Given the description of an element on the screen output the (x, y) to click on. 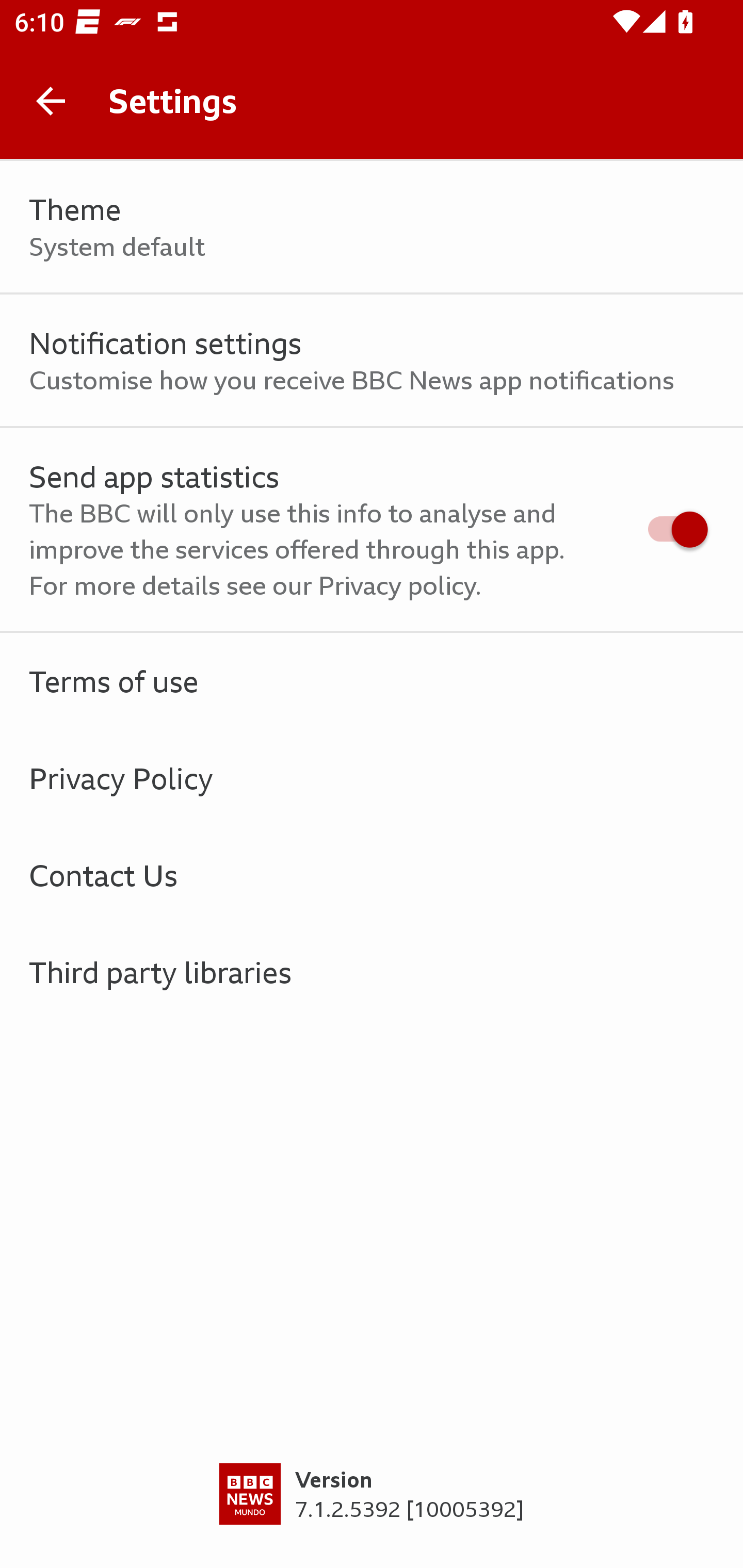
Back (50, 101)
Theme System default (371, 227)
Terms of use (371, 681)
Privacy Policy (371, 777)
Contact Us (371, 874)
Third party libraries (371, 971)
Version 7.1.2.5392 [10005392] (371, 1515)
